Given the description of an element on the screen output the (x, y) to click on. 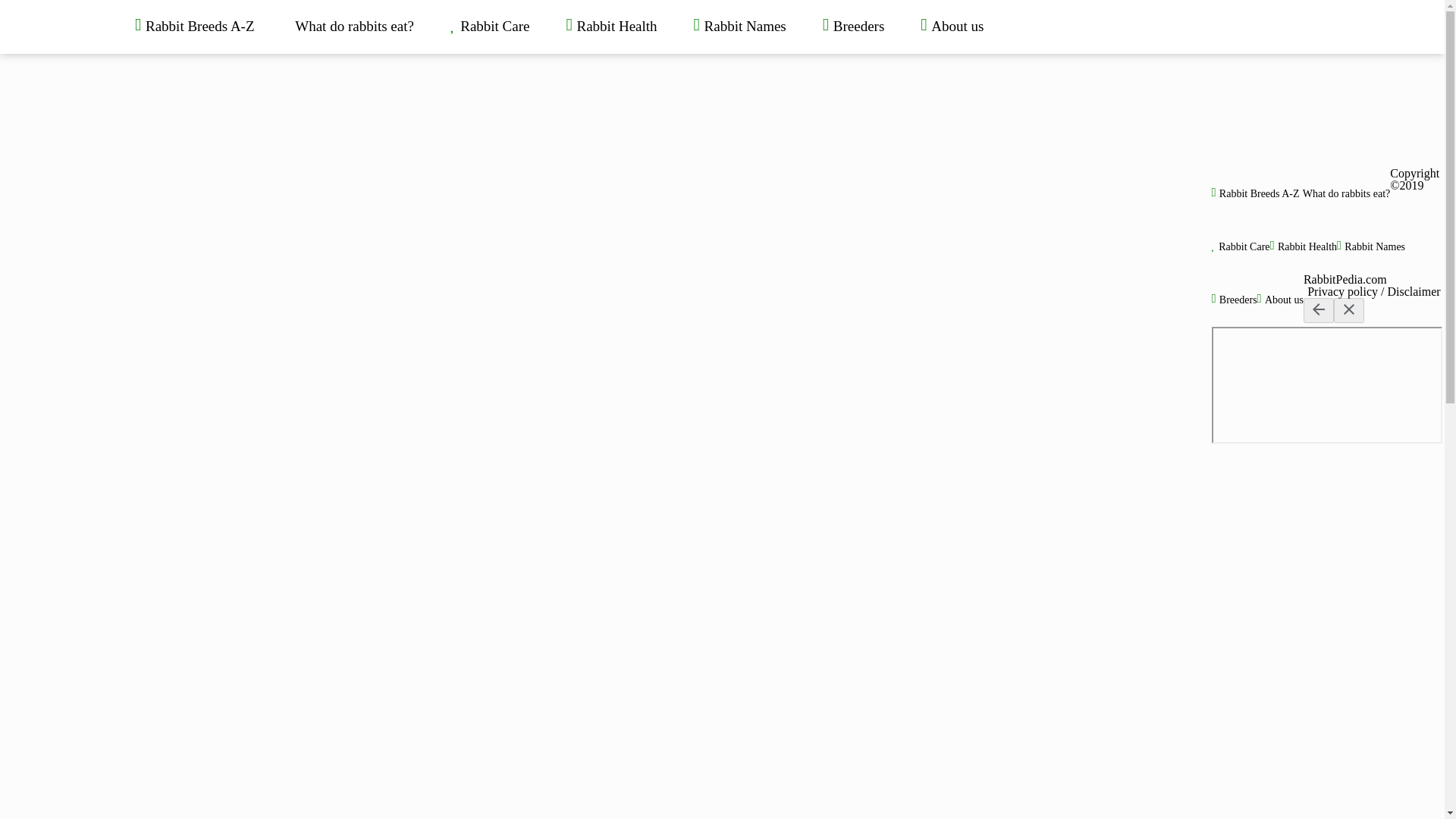
Rabbit Health (611, 26)
About RabbitPedia (951, 26)
Rabbit Health (1302, 246)
Rabbit Care (490, 26)
Rabbit names for your bunny (1370, 246)
Rabbit Breeds from A-Z (194, 26)
Rabbit Breeders directory (853, 26)
Rabbit names for your bunny (740, 26)
What do rabbits eat? Ultimate guide (352, 26)
Rabbit Care (1240, 246)
About us (1280, 299)
Rabbit Health (611, 26)
Rabbit Names (1370, 246)
Rabbit Breeds from A-Z (1255, 193)
What do rabbits eat? (352, 26)
